Given the description of an element on the screen output the (x, y) to click on. 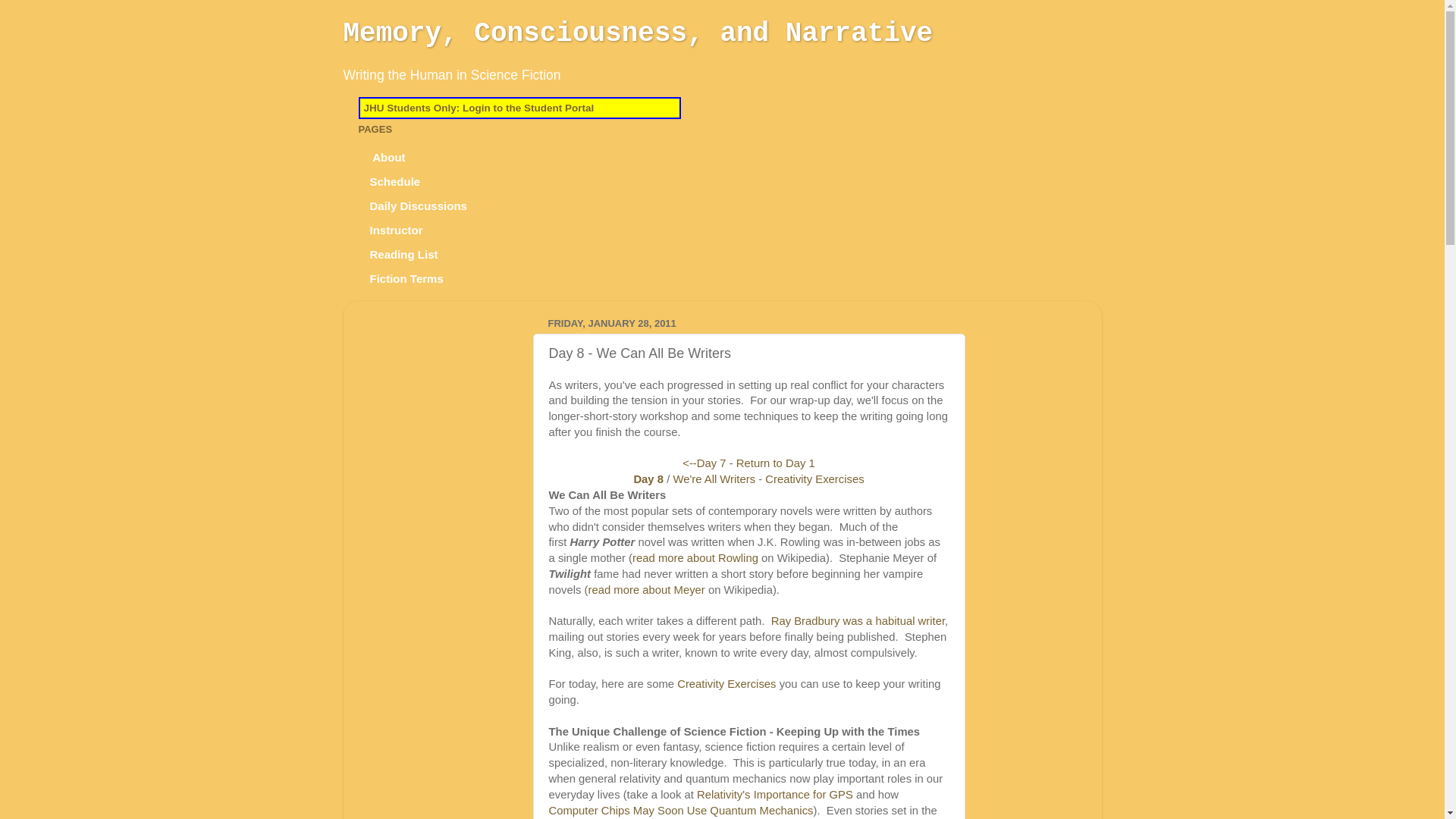
Schedule Element type: text (394, 181)
Return to Day 1 Element type: text (775, 463)
Creativity Exercises Element type: text (814, 479)
Computer Chips May Soon Use Quantum Mechanics Element type: text (681, 810)
<--Day 7 Element type: text (703, 463)
Ray Bradbury was a habitual writer Element type: text (857, 621)
Memory, Consciousness, and Narrative Element type: text (637, 33)
About Element type: text (387, 157)
read more about Rowling Element type: text (695, 558)
Reading List Element type: text (403, 254)
We're All Writers Element type: text (713, 479)
Daily Discussions Element type: text (417, 206)
Day 8 Element type: text (648, 479)
Instructor Element type: text (395, 230)
Creativity Exercises Element type: text (726, 683)
read more about Meyer Element type: text (645, 589)
Fiction Terms Element type: text (406, 278)
JHU Students Only: Login to the Student Portal Element type: text (479, 107)
Relativity's Importance for GPS Element type: text (774, 794)
